Given the description of an element on the screen output the (x, y) to click on. 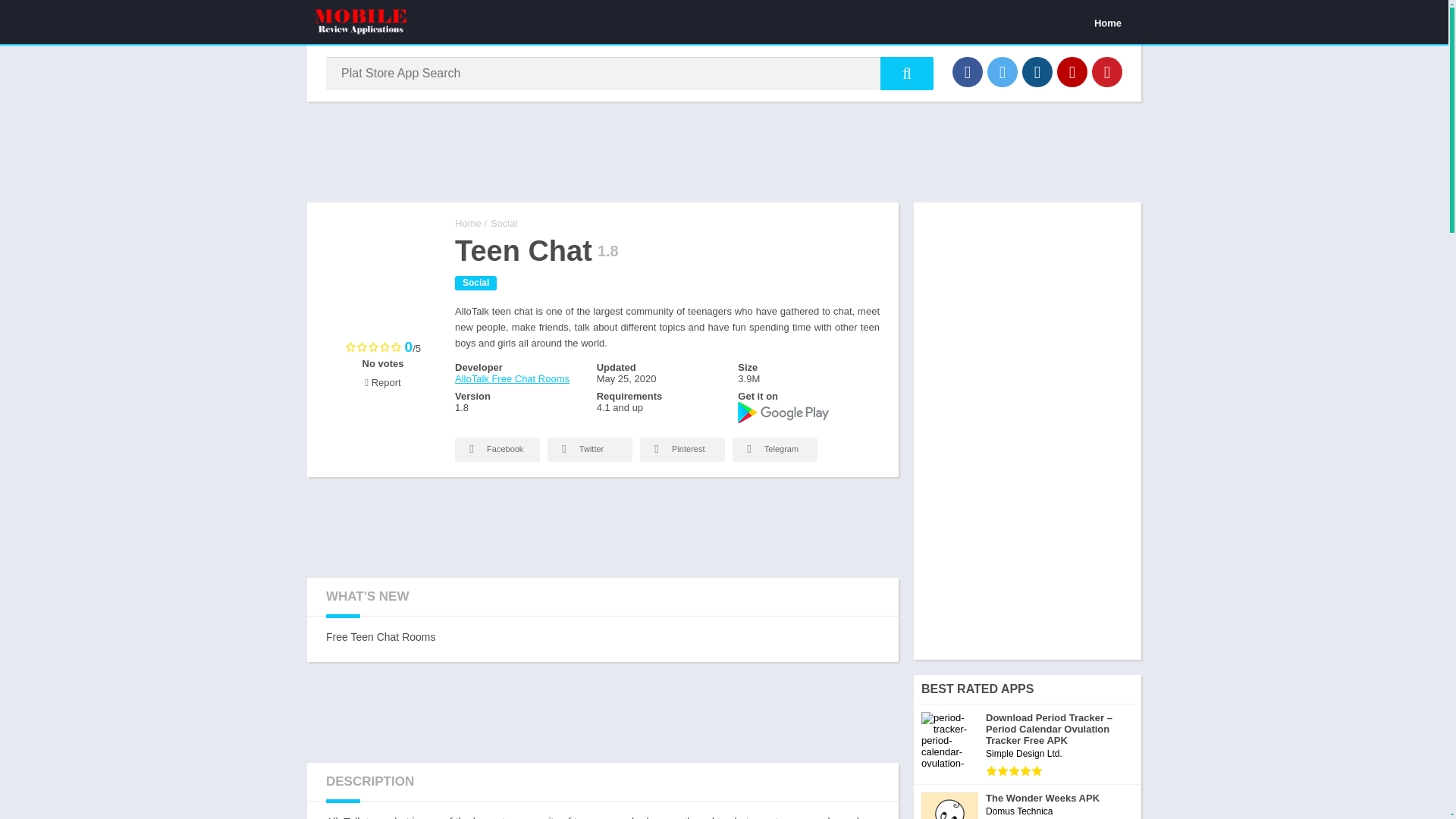
Twitter (1002, 71)
Facebook (497, 449)
Home (1107, 22)
AlloTalk Free Chat Rooms (511, 378)
Social (475, 283)
Home (467, 223)
Pinterest (682, 449)
Social (503, 223)
Review Mobile Applications (467, 223)
Pinterest (1107, 71)
